Given the description of an element on the screen output the (x, y) to click on. 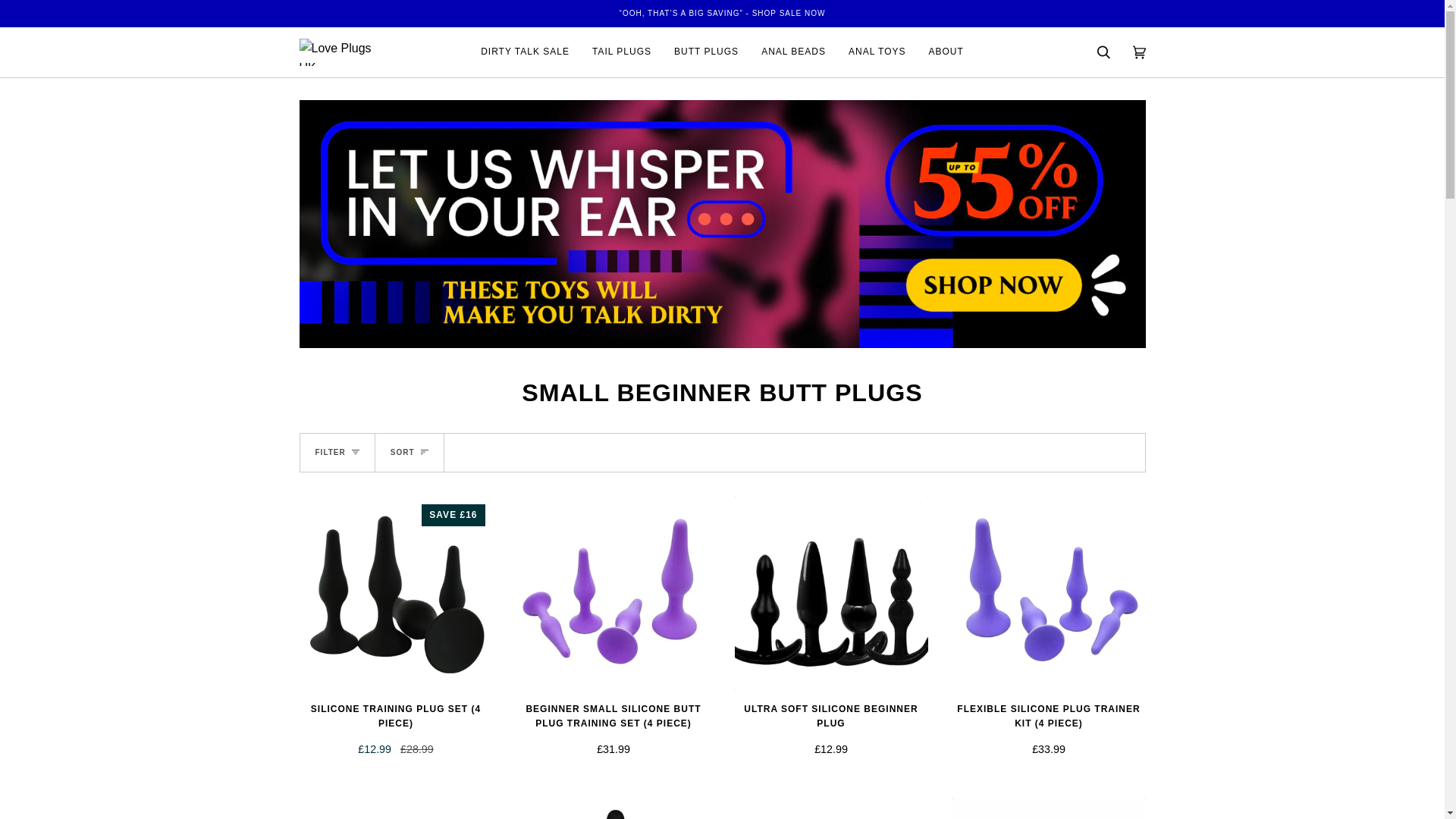
BUTT PLUGS (705, 51)
TAIL PLUGS (621, 51)
DIRTY TALK SALE (524, 51)
ANAL BEADS (793, 51)
ANAL TOYS (877, 51)
